Given the description of an element on the screen output the (x, y) to click on. 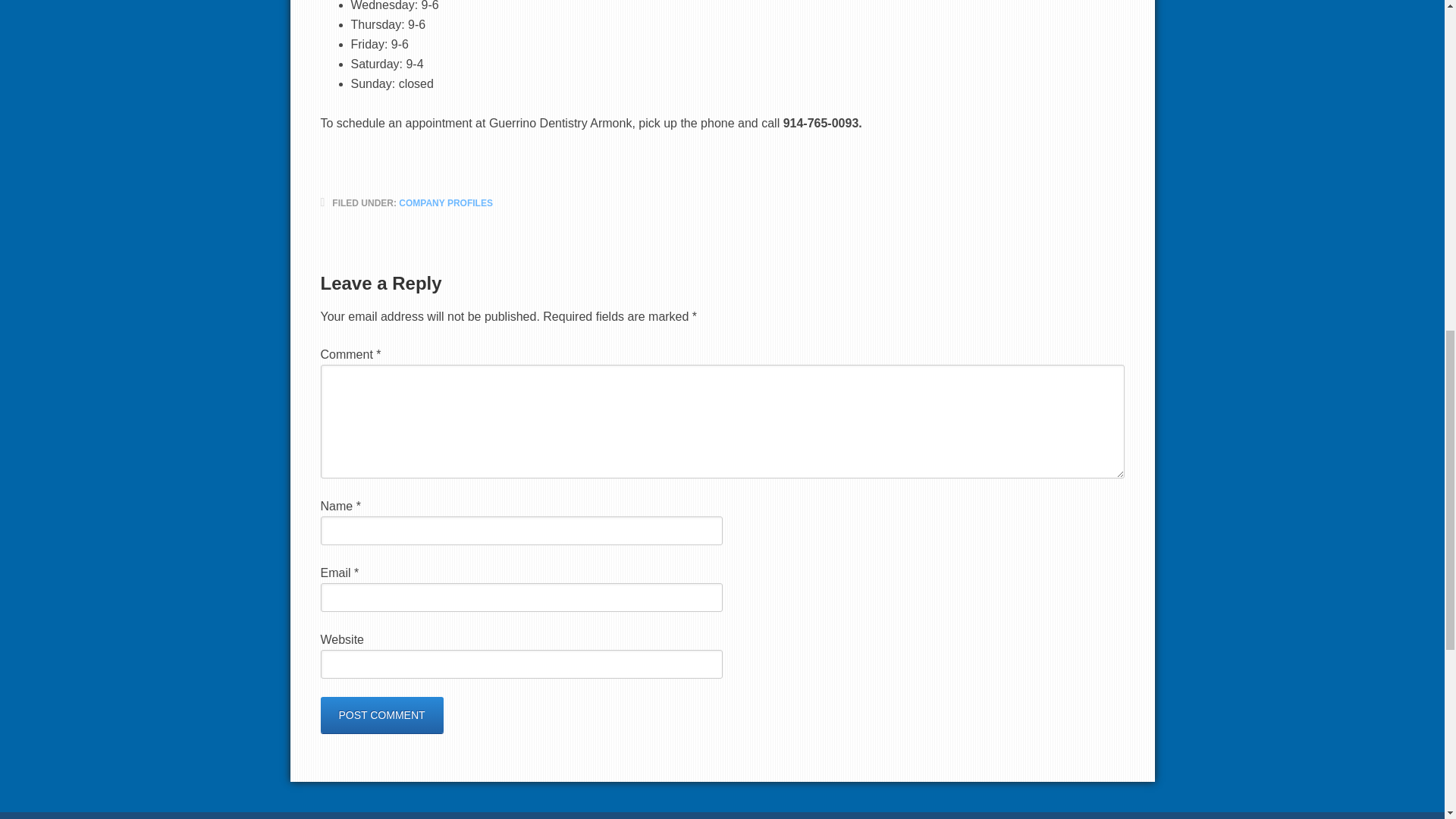
COMPANY PROFILES (445, 203)
Post Comment (381, 714)
Post Comment (381, 714)
